Given the description of an element on the screen output the (x, y) to click on. 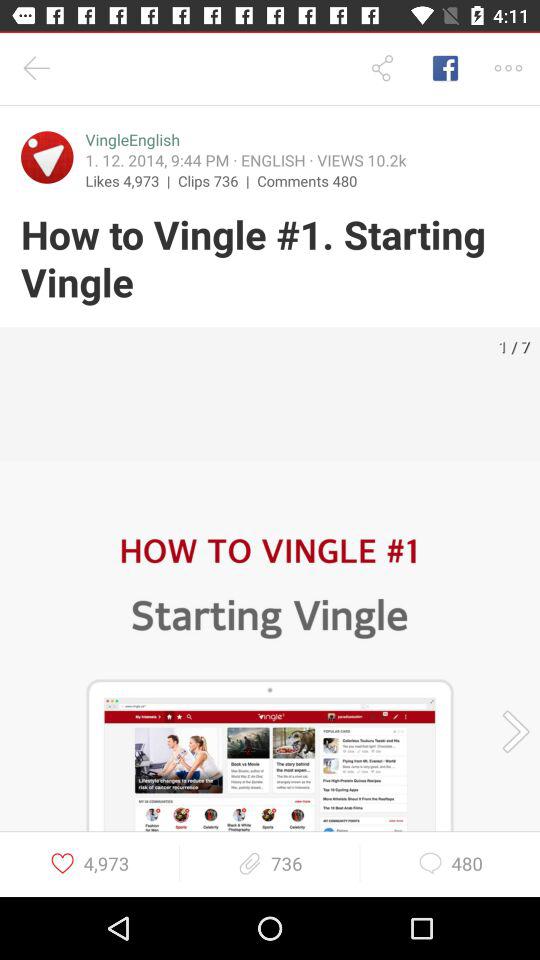
select the options icon (508, 68)
click on the share icon (382, 67)
click on facebook icon at the top (445, 67)
select the text in the first line (132, 139)
